Given the description of an element on the screen output the (x, y) to click on. 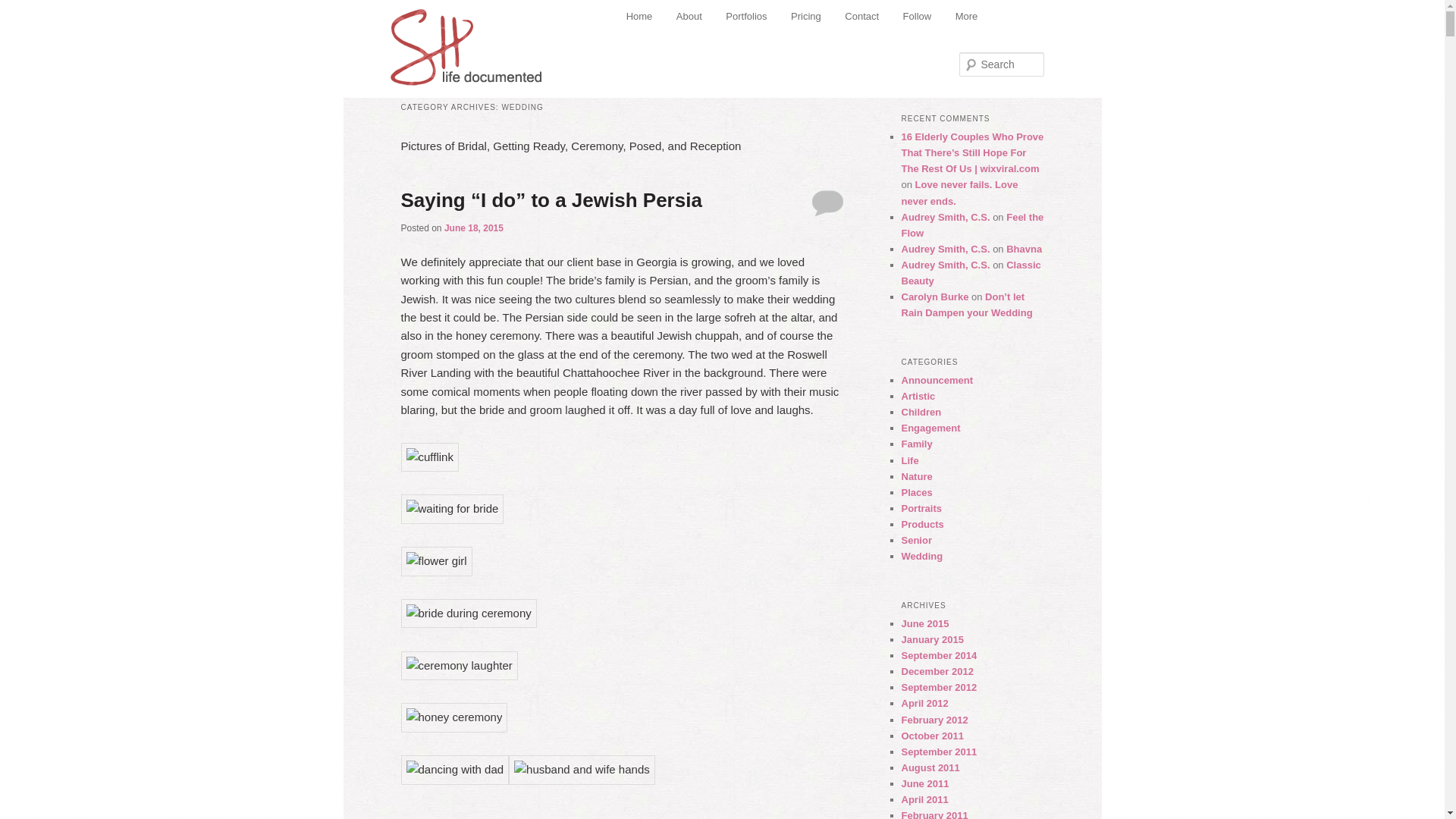
Home (638, 16)
Portfolios (746, 16)
Samantha Howard Photography (467, 41)
June 18, 2015 (473, 227)
About (688, 16)
Skip to primary content (693, 18)
3:40 pm (473, 227)
Skip to secondary content (700, 18)
Follow (917, 16)
Pricing (805, 16)
